Given the description of an element on the screen output the (x, y) to click on. 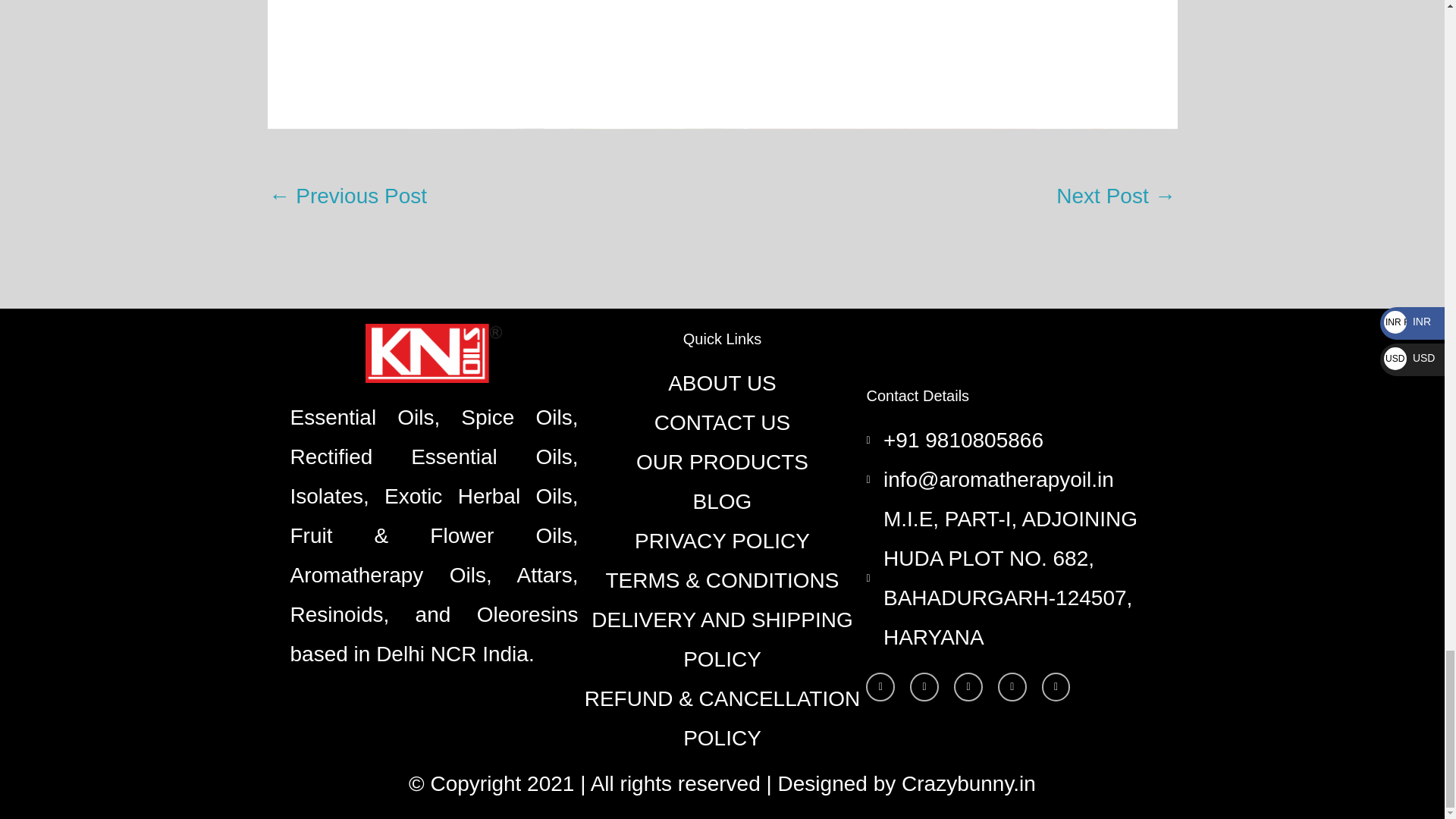
CONTACT US (722, 423)
BLOG (722, 501)
Ylang Ylang Essential Oil: History, Extraction, and Uses (1115, 196)
ABOUT US (722, 383)
OUR PRODUCTS (722, 462)
PRIVACY POLICY (722, 541)
